Given the description of an element on the screen output the (x, y) to click on. 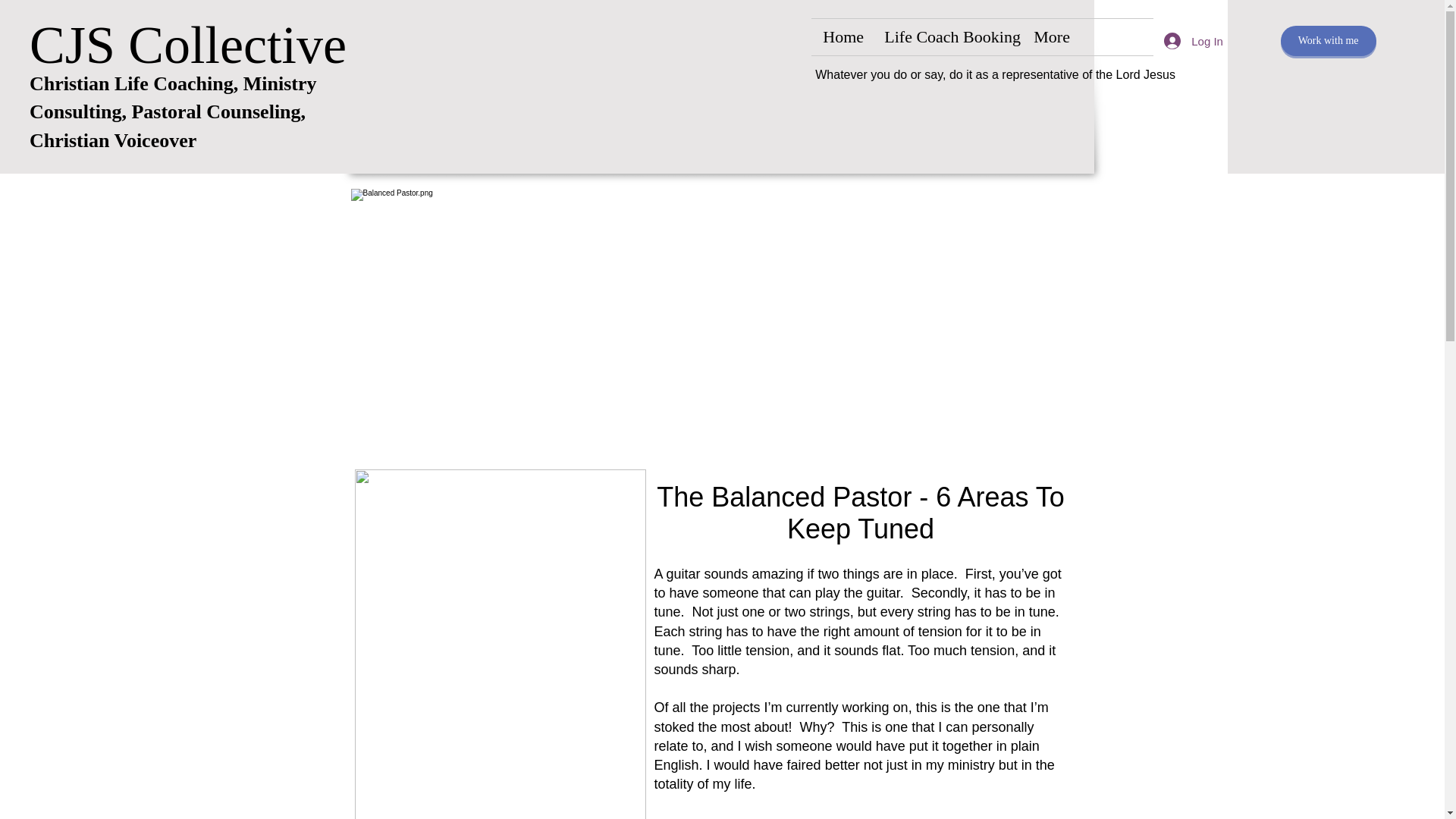
Work with me (1328, 40)
Log In (1190, 40)
Life Coach Booking (947, 36)
Home (841, 36)
